Given the description of an element on the screen output the (x, y) to click on. 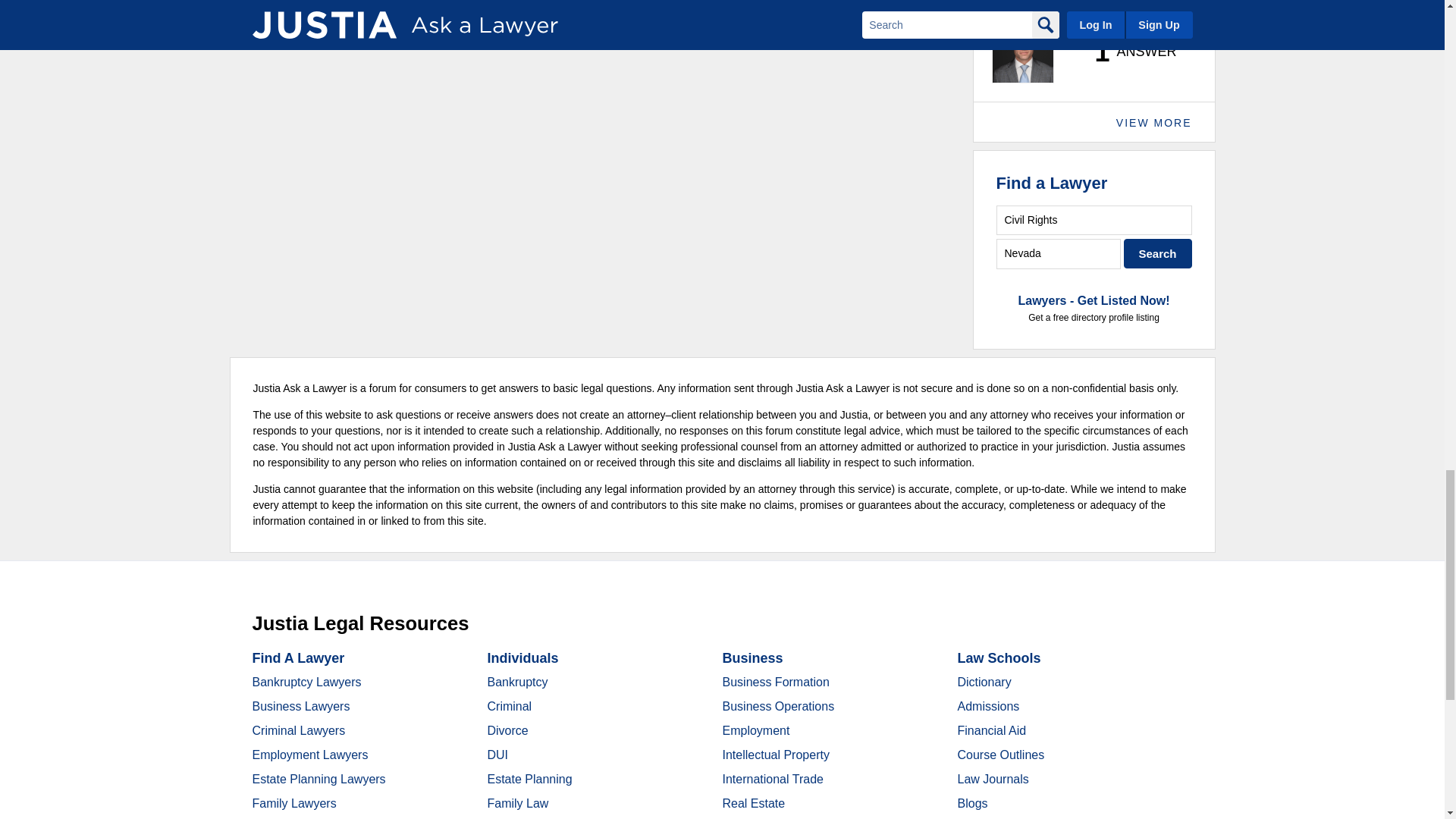
Legal Issue or Lawyer Name (1093, 220)
Ask a Lawyer - Leaderboard - Lawyer Name (1038, 7)
Civil Rights (1093, 220)
Ask a Lawyer - Leaderboard - Lawyer Photo (1021, 52)
Ask a Lawyer - Leaderboard - Lawyer Stats (1127, 52)
Search (1158, 253)
Search (1158, 253)
City, State (1058, 253)
Nevada (1058, 253)
